Given the description of an element on the screen output the (x, y) to click on. 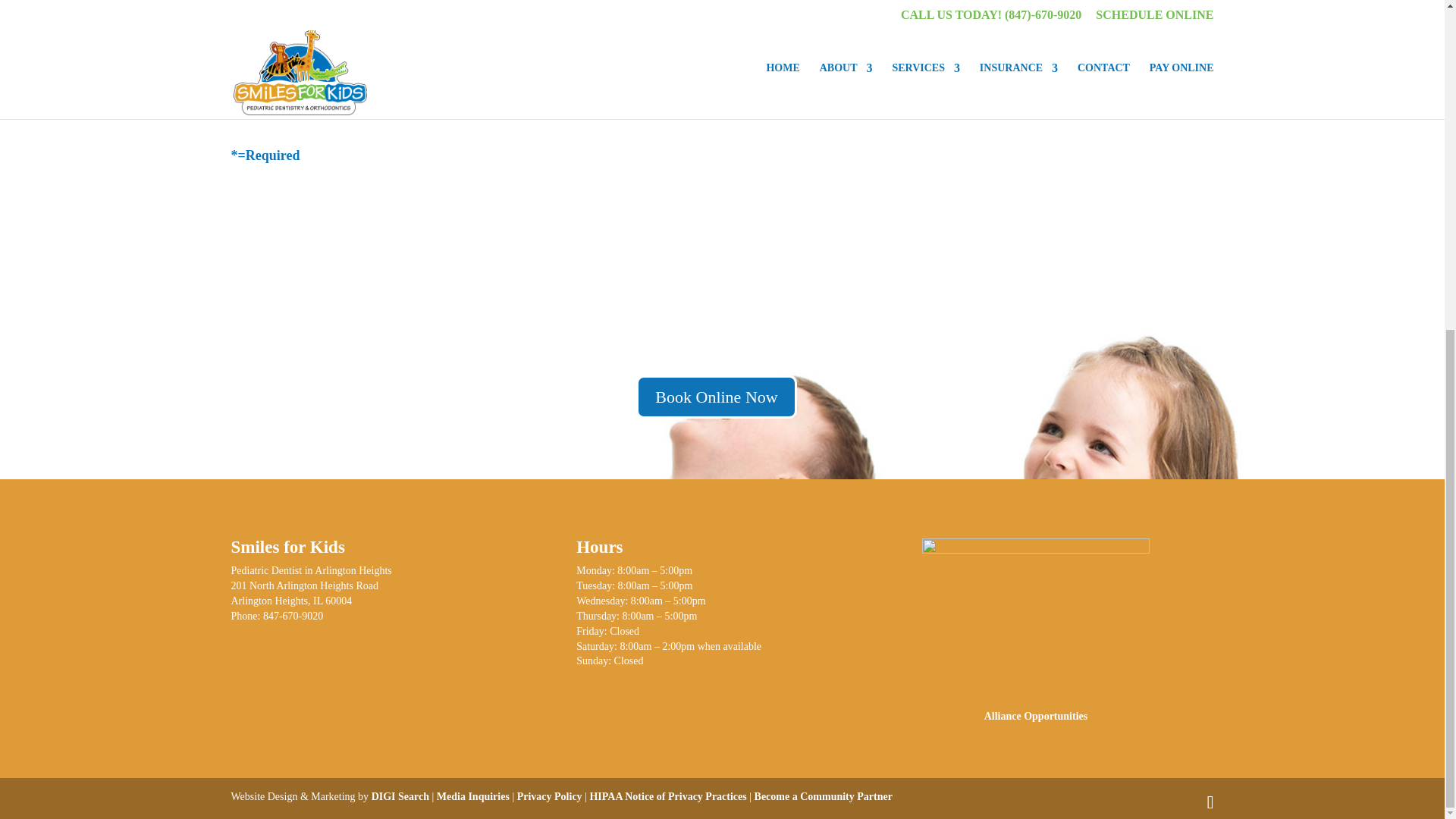
DIGI Search (400, 796)
Alliance Opportunities (1035, 715)
Privacy Policy (549, 796)
Media Inquiries (472, 796)
Book Online Now (716, 396)
HIPAA Notice of Privacy Practices (667, 796)
847-670-9020 (293, 615)
Become a Community Partner (823, 796)
